Given the description of an element on the screen output the (x, y) to click on. 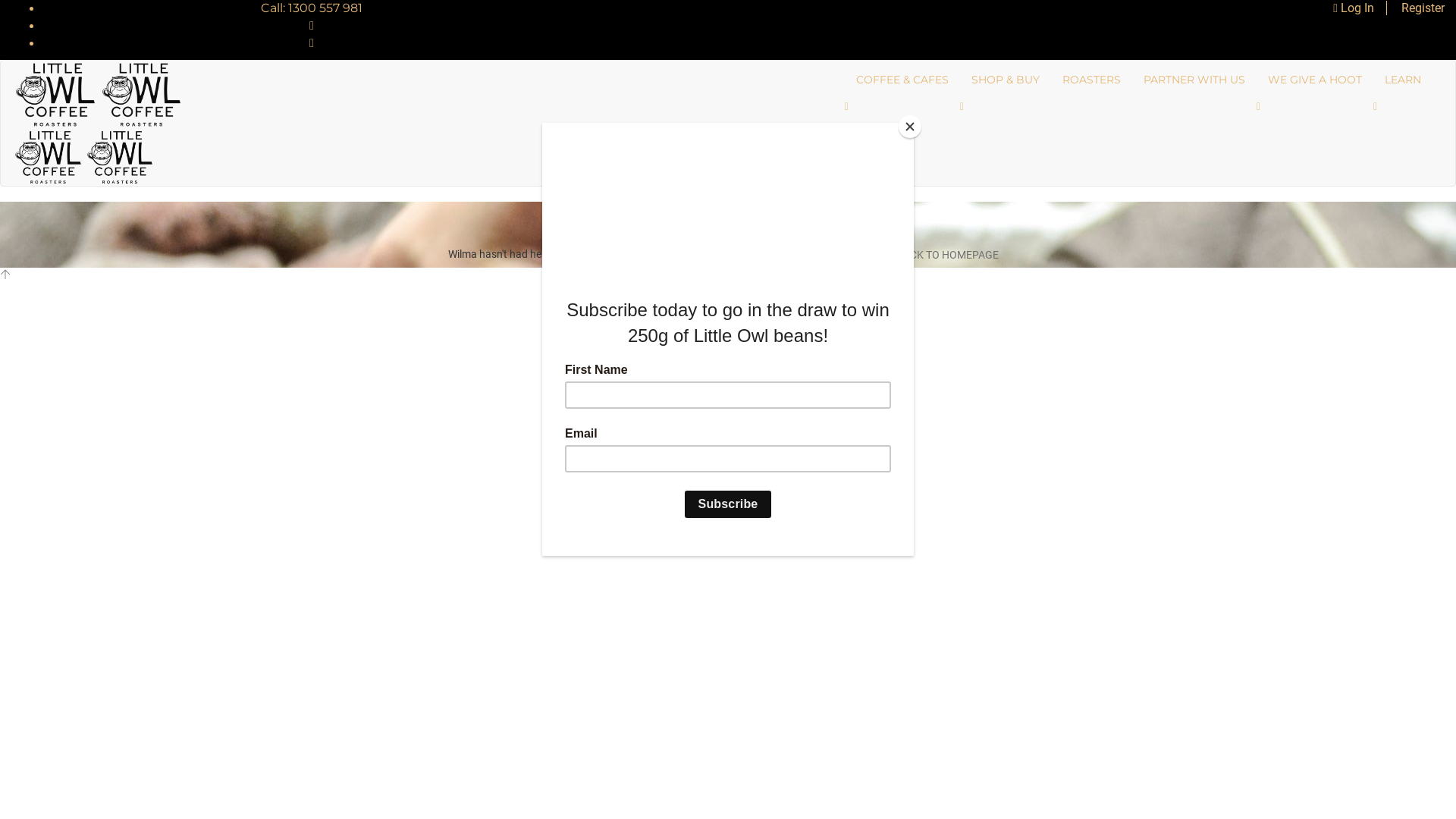
ROASTERS Element type: text (1091, 79)
Little Owl Coffee Roasters Element type: hover (98, 93)
SHOP & BUY Element type: text (1005, 79)
Register Element type: text (1416, 7)
WE GIVE A HOOT Element type: text (1314, 79)
PARTNER WITH US Element type: text (1194, 79)
Call: 1300 557 981 Element type: text (311, 7)
Log In Element type: text (1359, 7)
Little Owl Coffee Roasters Element type: hover (83, 156)
LEARN Element type: text (1402, 79)
BACK TO HOMEPAGE Element type: text (940, 254)
COFFEE & CAFES Element type: text (902, 79)
